Given the description of an element on the screen output the (x, y) to click on. 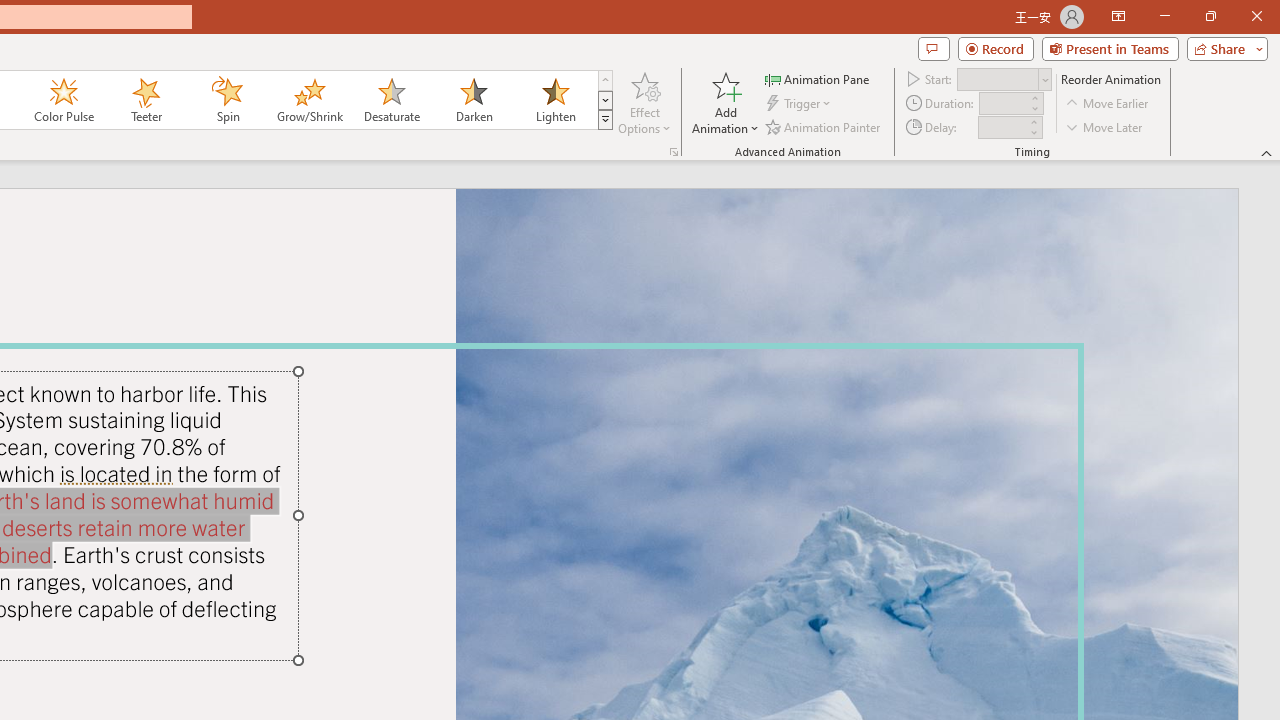
Lighten (555, 100)
Animation Pane (818, 78)
Grow/Shrink (309, 100)
Spin (227, 100)
